Given the description of an element on the screen output the (x, y) to click on. 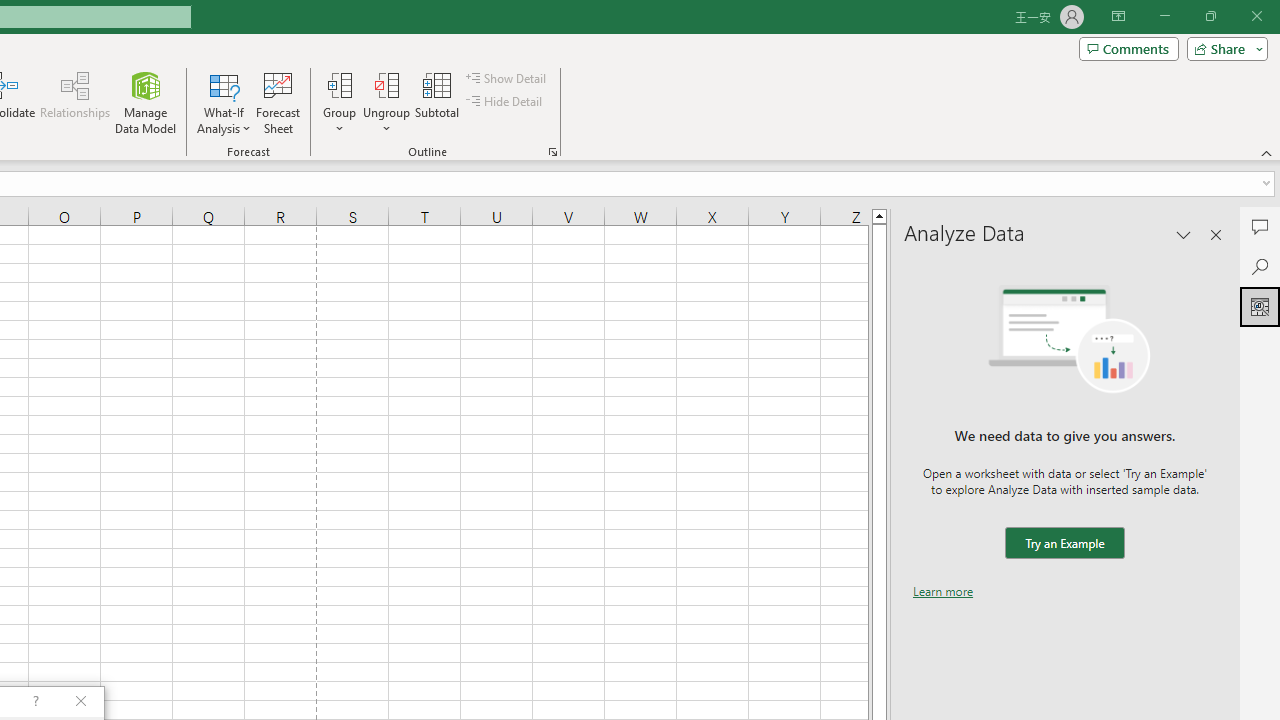
Learn more (943, 591)
We need data to give you answers. Try an Example (1064, 543)
